Given the description of an element on the screen output the (x, y) to click on. 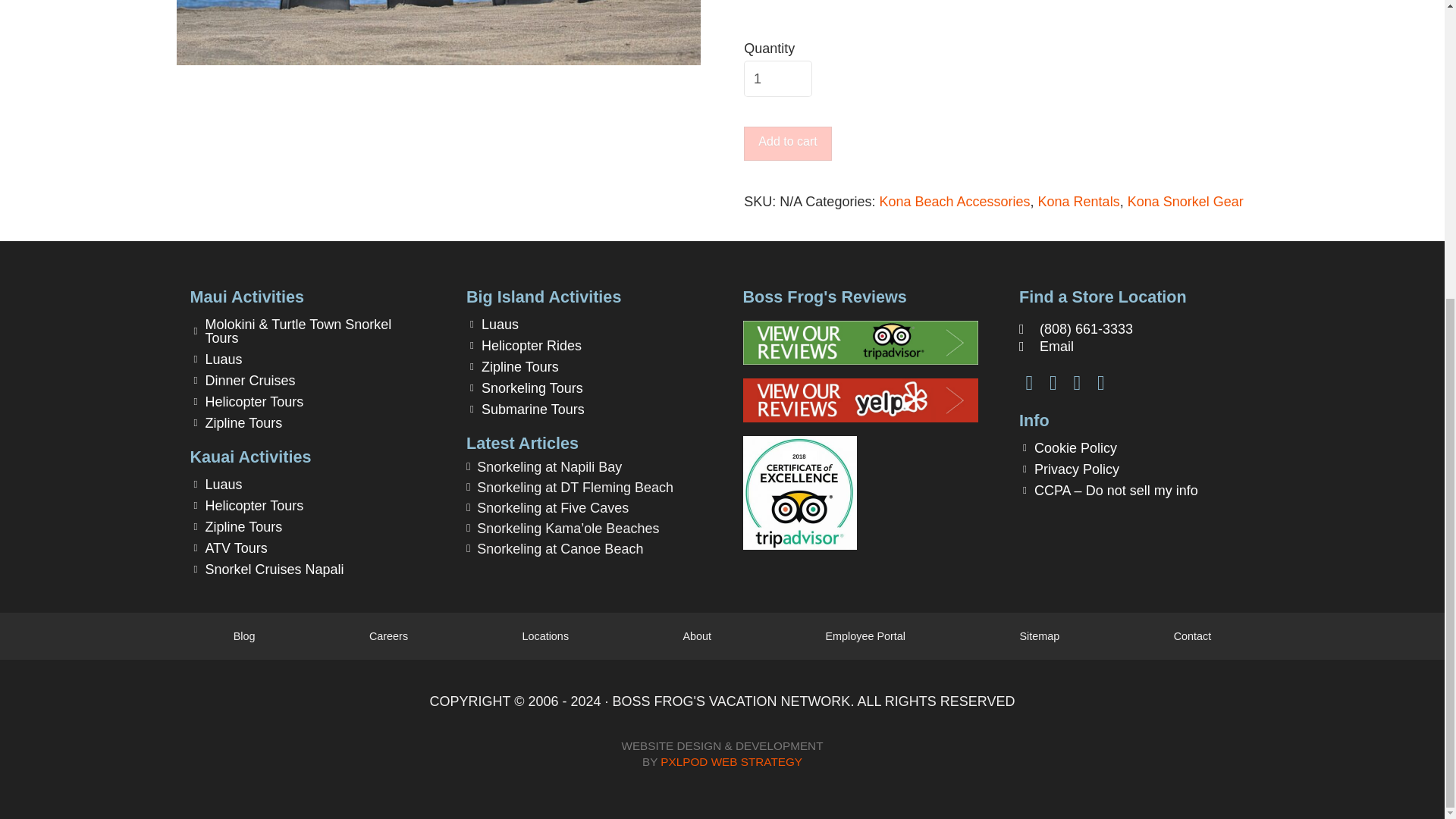
1 (778, 78)
four-fins (438, 32)
